Given the description of an element on the screen output the (x, y) to click on. 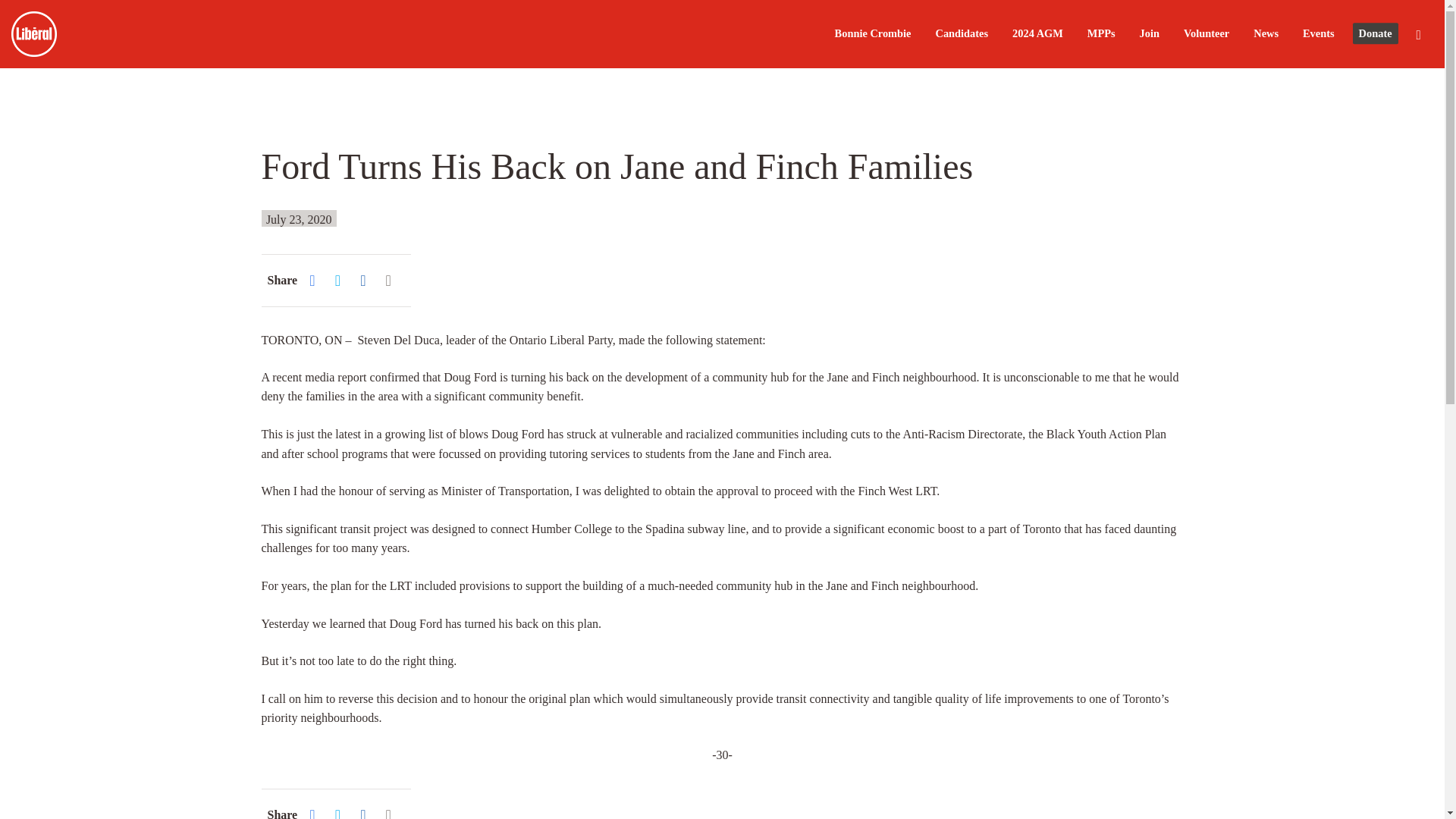
Share on Twitter (340, 812)
News (1265, 33)
Share on Facebook (314, 812)
Donate (1374, 34)
Join (1149, 33)
2024 AGM (1036, 33)
Send by email (391, 812)
Volunteer (1205, 33)
Bonnie Crombie (872, 33)
Events (1319, 33)
Share on LinkedIn (365, 812)
Candidates (961, 33)
MPPs (1101, 33)
